Given the description of an element on the screen output the (x, y) to click on. 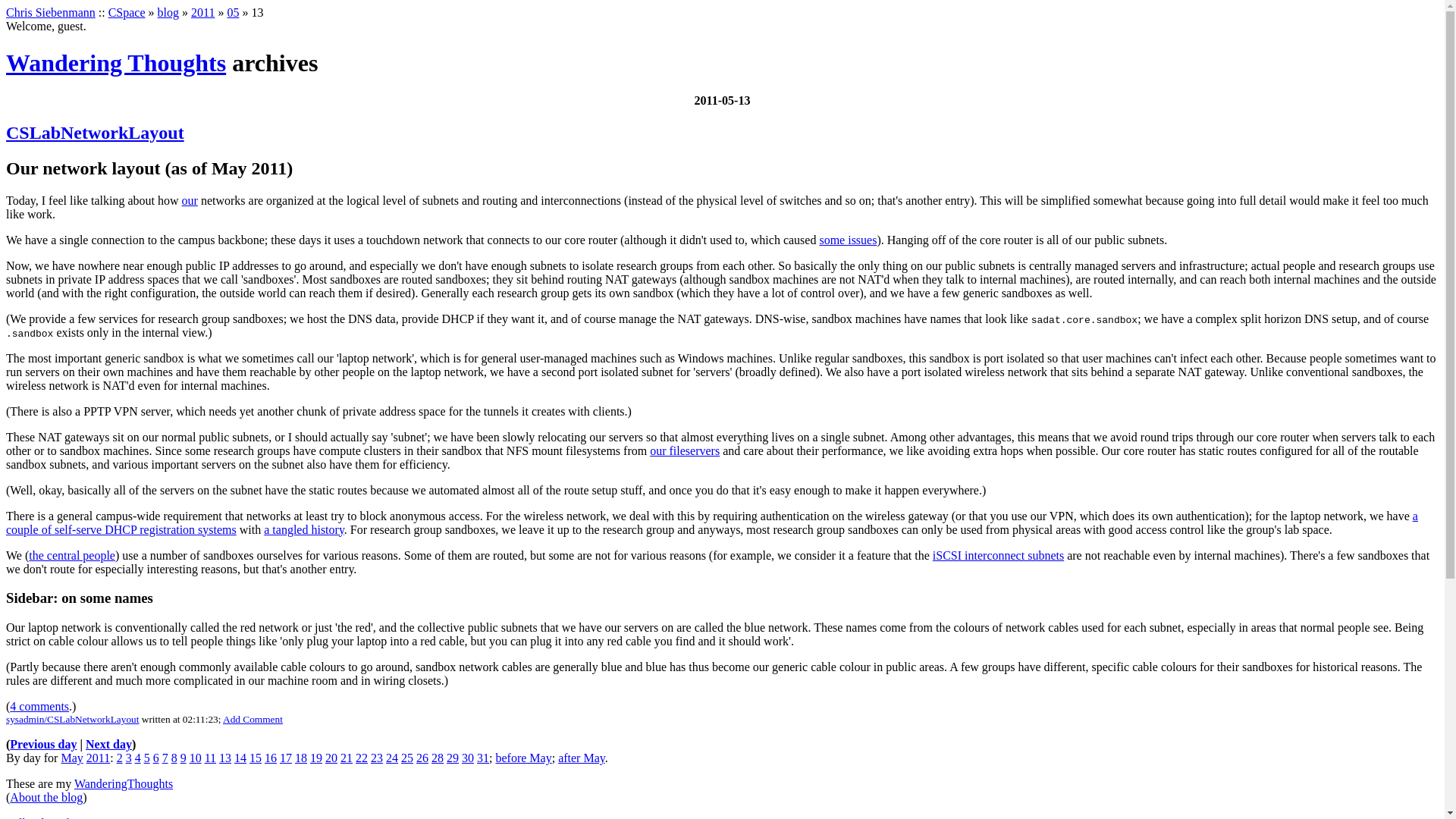
our (190, 200)
20 (330, 757)
21 (346, 757)
10 (195, 757)
the central people (72, 554)
Add Comment (252, 718)
Wandering Thoughts (115, 62)
13 (225, 757)
16 (270, 757)
4 comments (39, 706)
Previous day (43, 744)
Chris Siebenmann (50, 11)
a tangled history (303, 529)
17 (285, 757)
a couple of self-serve DHCP registration systems (711, 522)
